Given the description of an element on the screen output the (x, y) to click on. 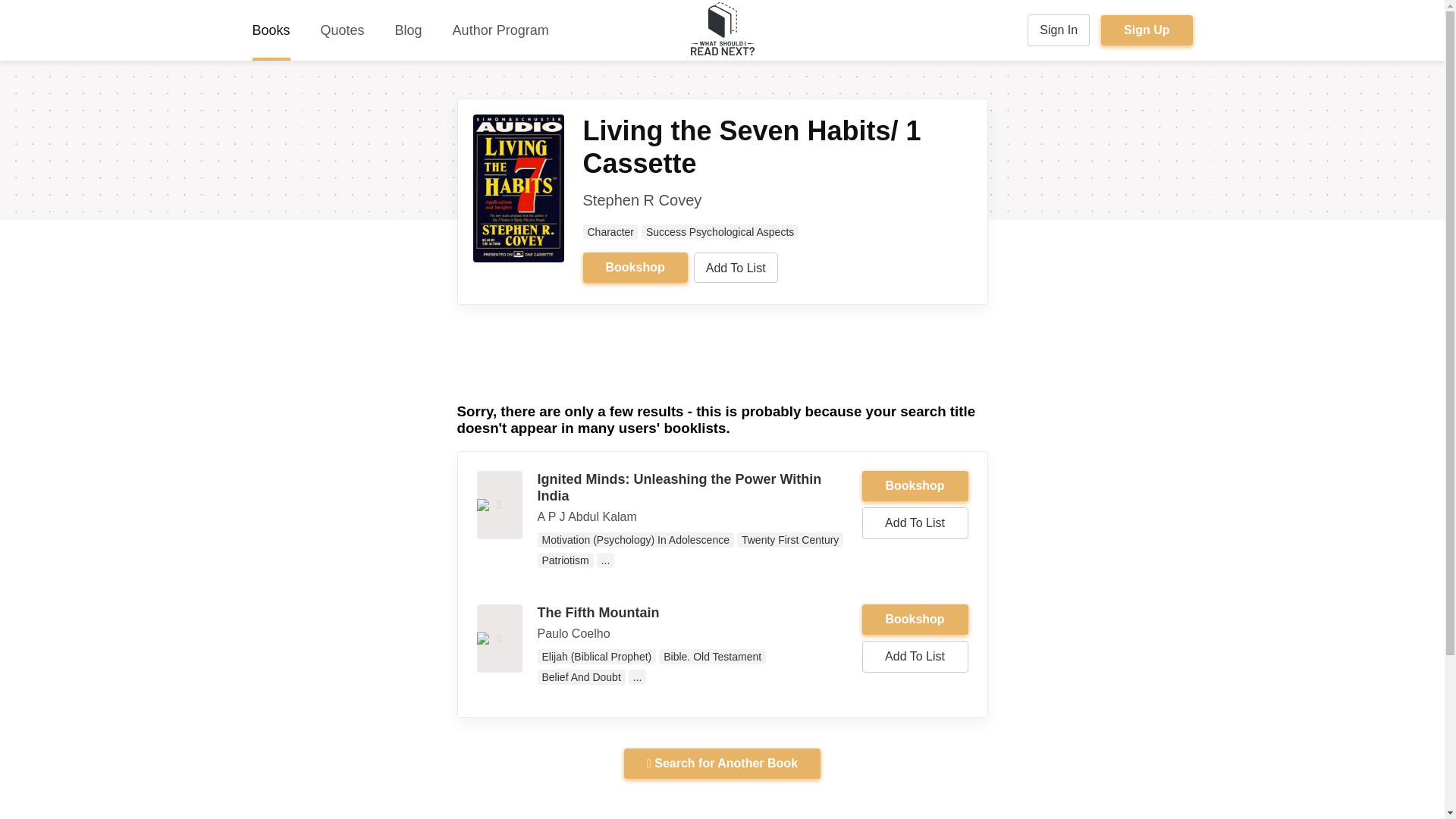
... (637, 676)
Add To List (914, 522)
Add To List (735, 267)
The Fifth Mountain (598, 612)
Belief And Doubt (580, 676)
Bookshop (914, 619)
Author Program (500, 30)
Patriotism (564, 560)
... (605, 560)
Bookshop (914, 619)
